Given the description of an element on the screen output the (x, y) to click on. 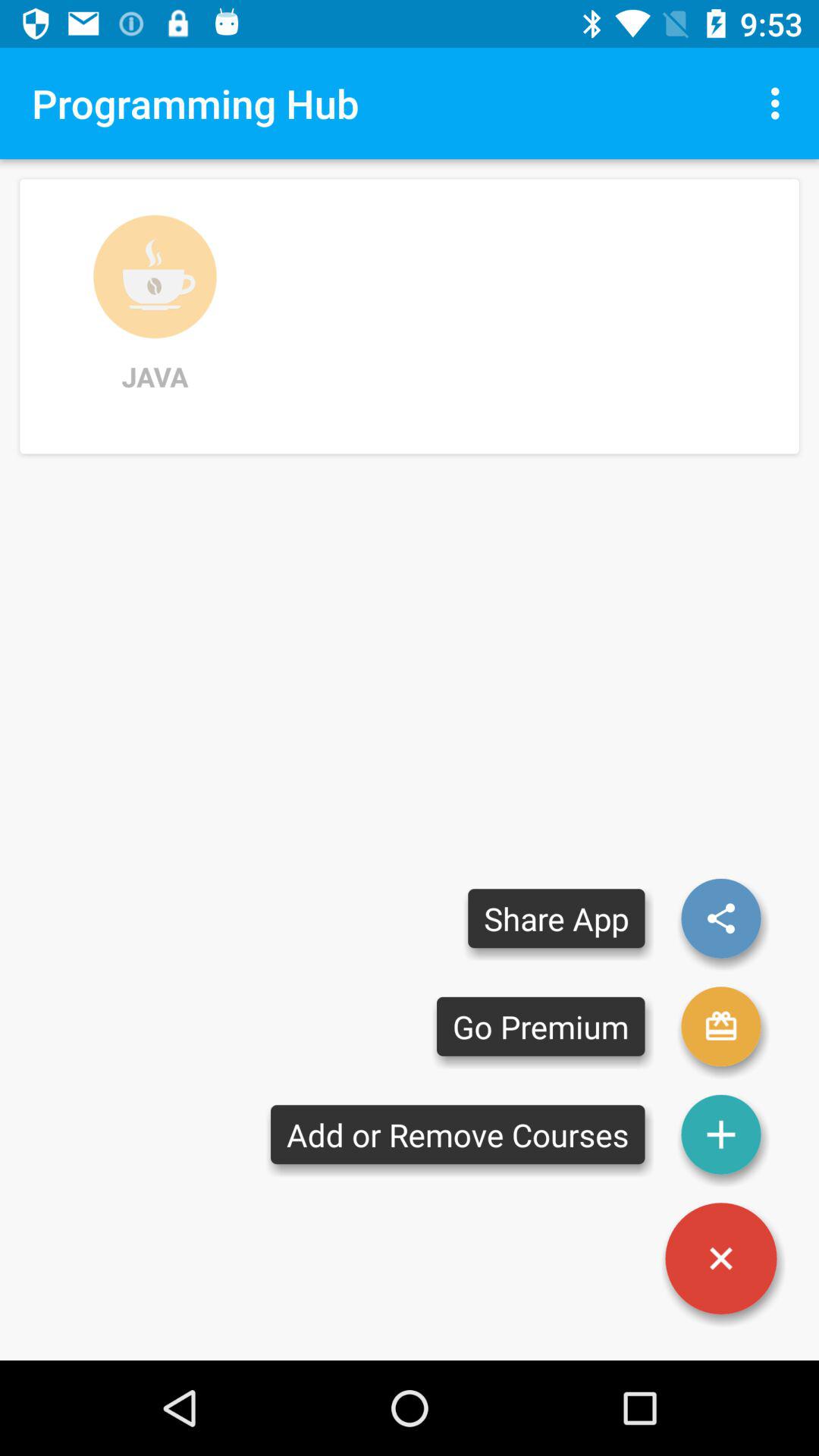
open item next to the add or remove icon (721, 1258)
